Given the description of an element on the screen output the (x, y) to click on. 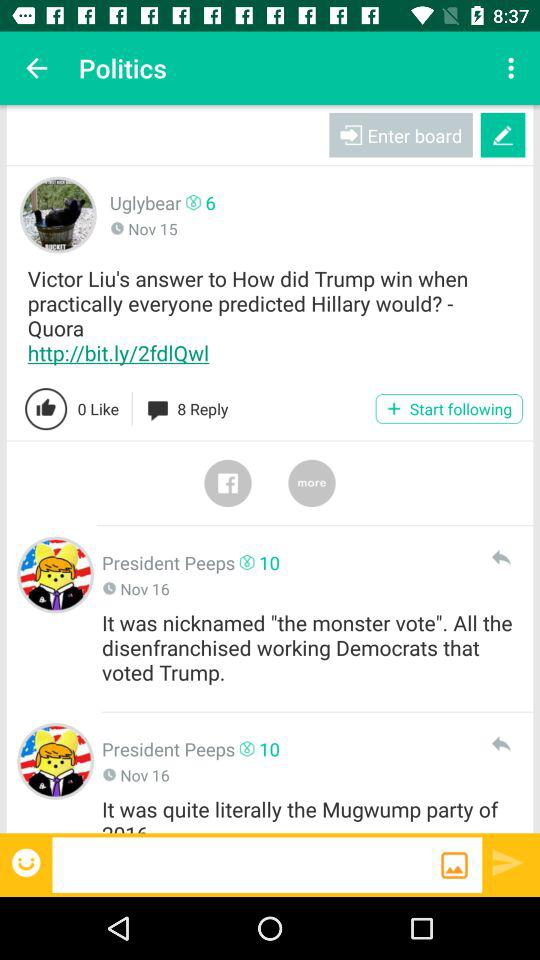
like post (46, 409)
